Given the description of an element on the screen output the (x, y) to click on. 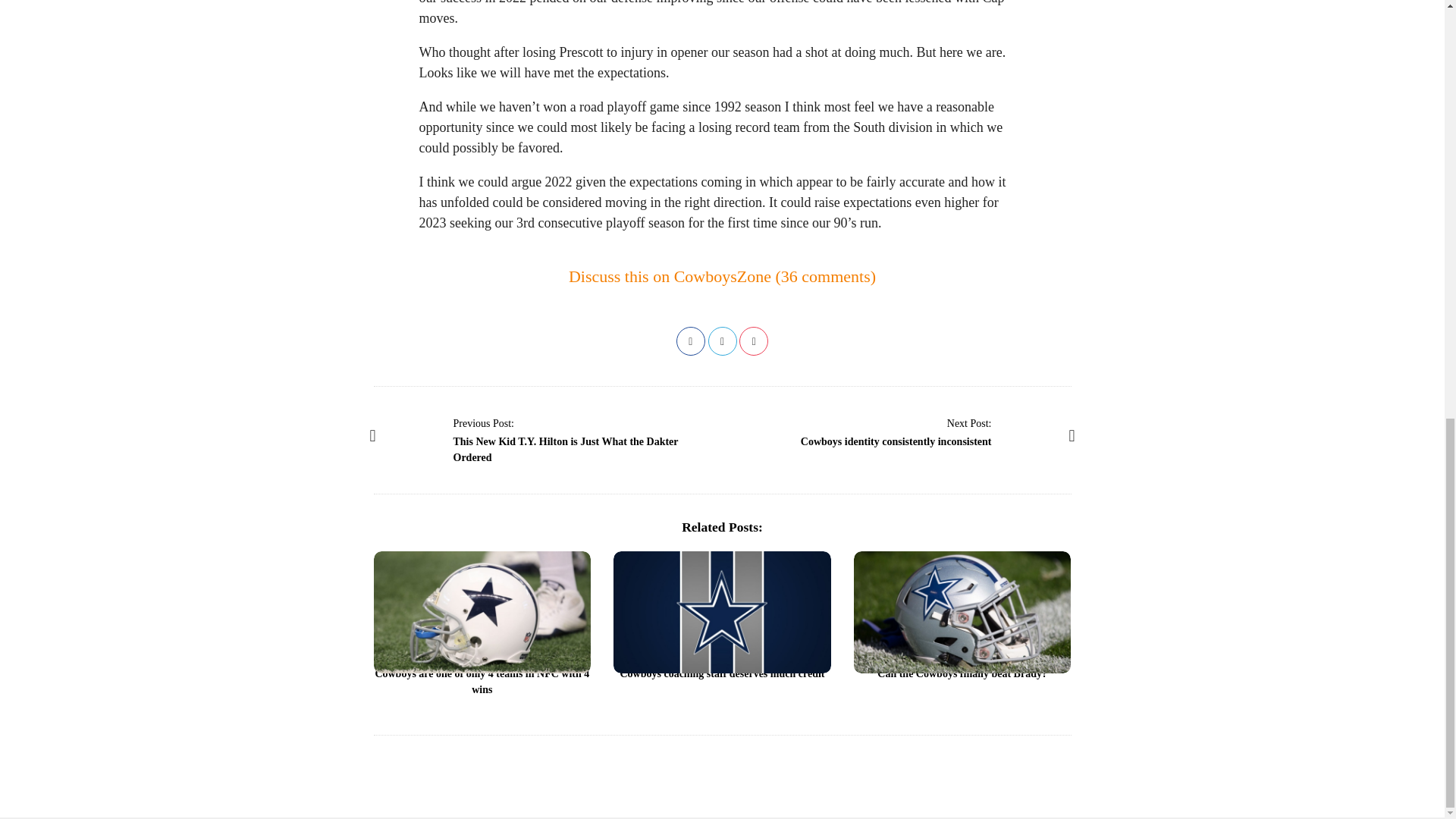
This New Kid T.Y. Hilton is Just What the Dakter Ordered (565, 449)
Cowboys are one of only 4 teams in NFC with 4 wins (481, 612)
Cowboys coaching staff deserves much credit (722, 673)
Cowboys are one of only 4 teams in NFC with 4 wins (481, 681)
Cowboys coaching staff deserves much credit (721, 612)
Next Post: (969, 422)
This New Kid T.Y. Hilton is Just What the Dakter Ordered (483, 422)
Cowboys identity consistently inconsistent (895, 441)
Can the Cowboys finally beat Brady? (961, 673)
Cowboys are one of only 4 teams in NFC with 4 wins (481, 681)
